Given the description of an element on the screen output the (x, y) to click on. 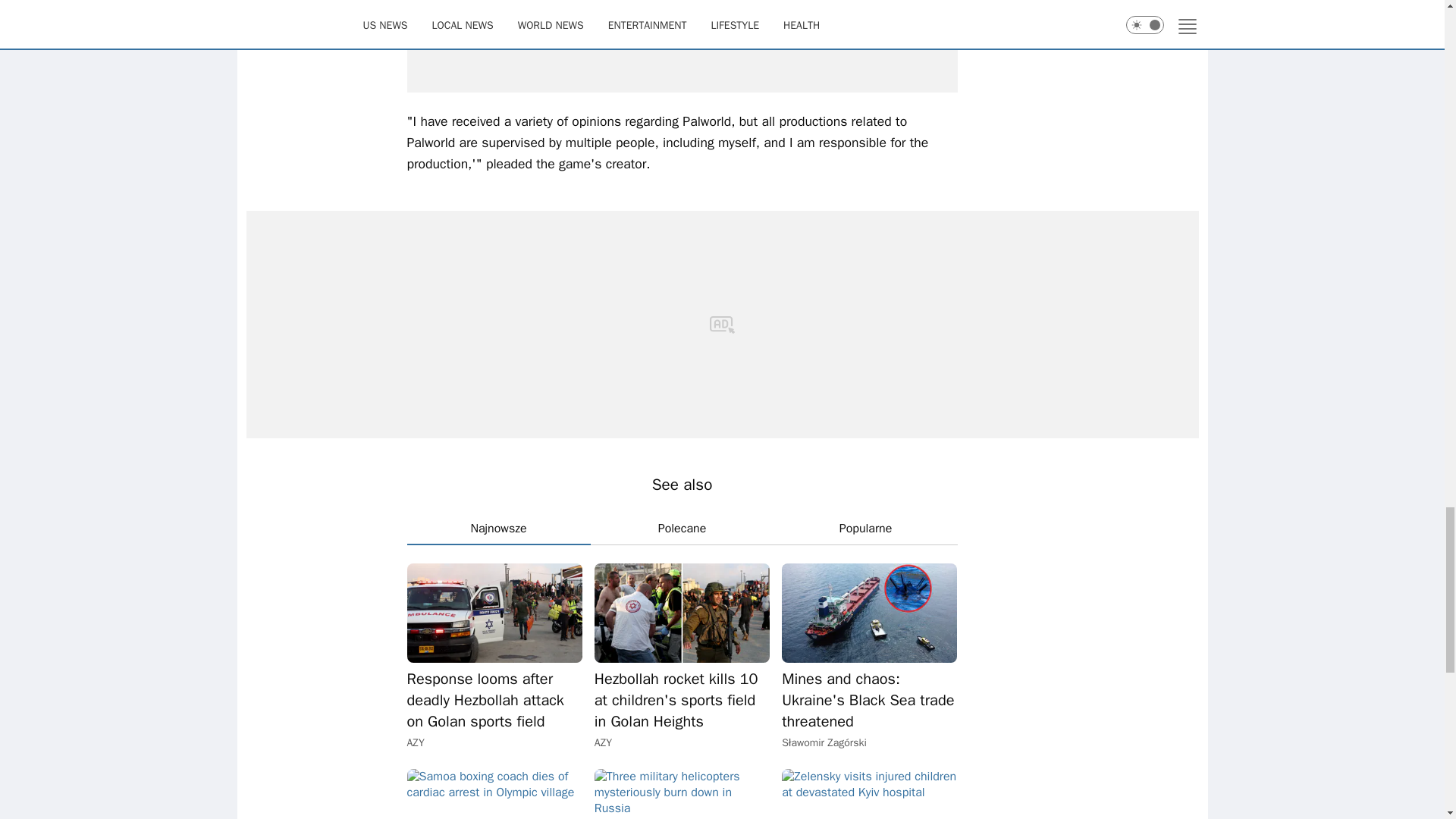
Three military helicopters mysteriously burn down in Russia (682, 794)
Samoa boxing coach dies of cardiac arrest in Olympic village (493, 794)
Polecane (681, 528)
Zelensky visits injured children at devastated Kyiv hospital (868, 794)
Mines and chaos: Ukraine's Black Sea trade threatened (868, 612)
Popularne (864, 528)
Najnowsze (497, 529)
Mines and chaos: Ukraine's Black Sea trade threatened (868, 700)
Mines and chaos: Ukraine's Black Sea trade threatened (868, 700)
